Given the description of an element on the screen output the (x, y) to click on. 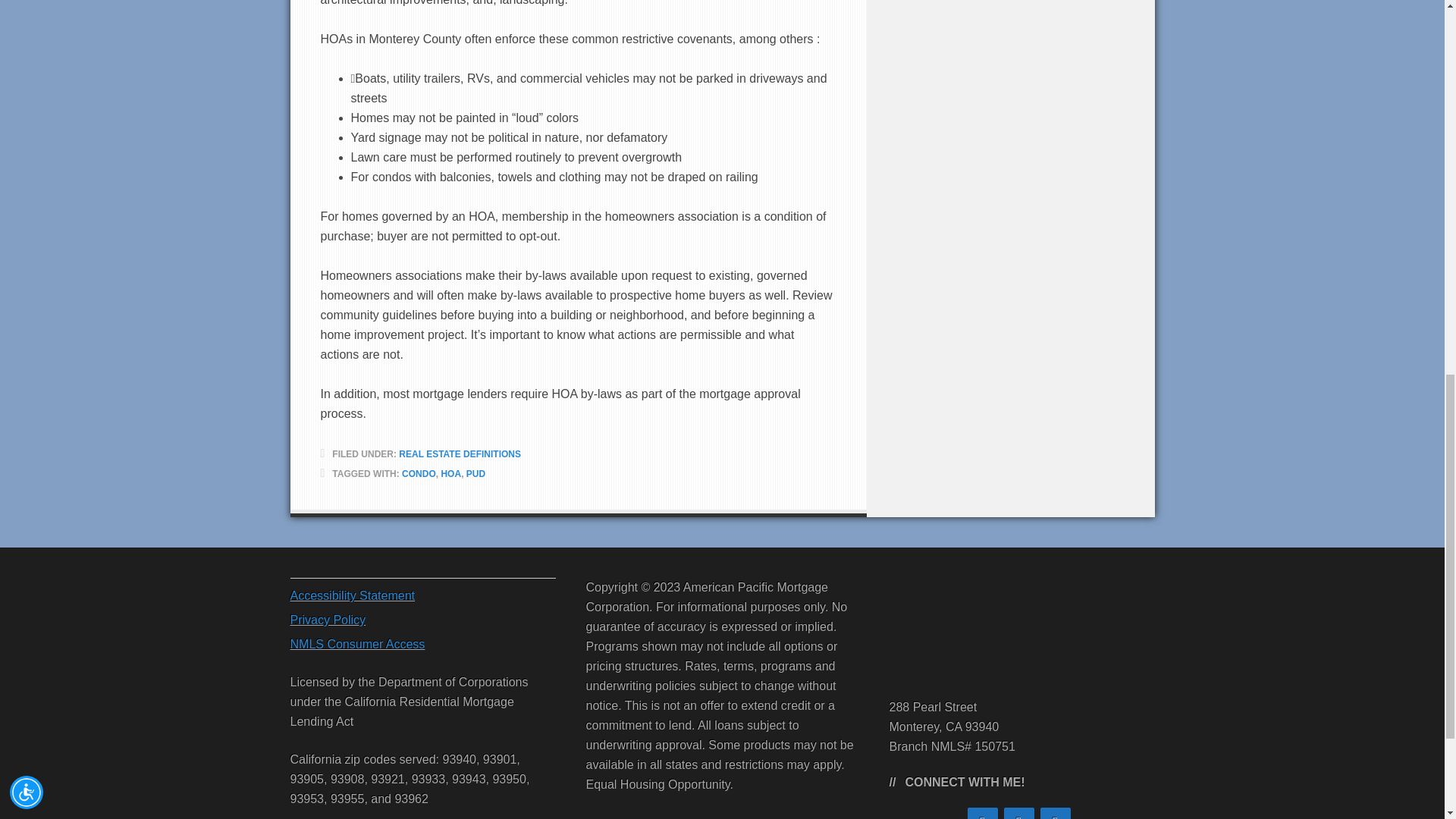
PUD (474, 473)
NMLS Consumer Access (357, 644)
CONDO (418, 473)
REAL ESTATE DEFINITIONS (459, 453)
Accessibility Statement (351, 594)
Privacy Policy (327, 619)
HOA (451, 473)
